Given the description of an element on the screen output the (x, y) to click on. 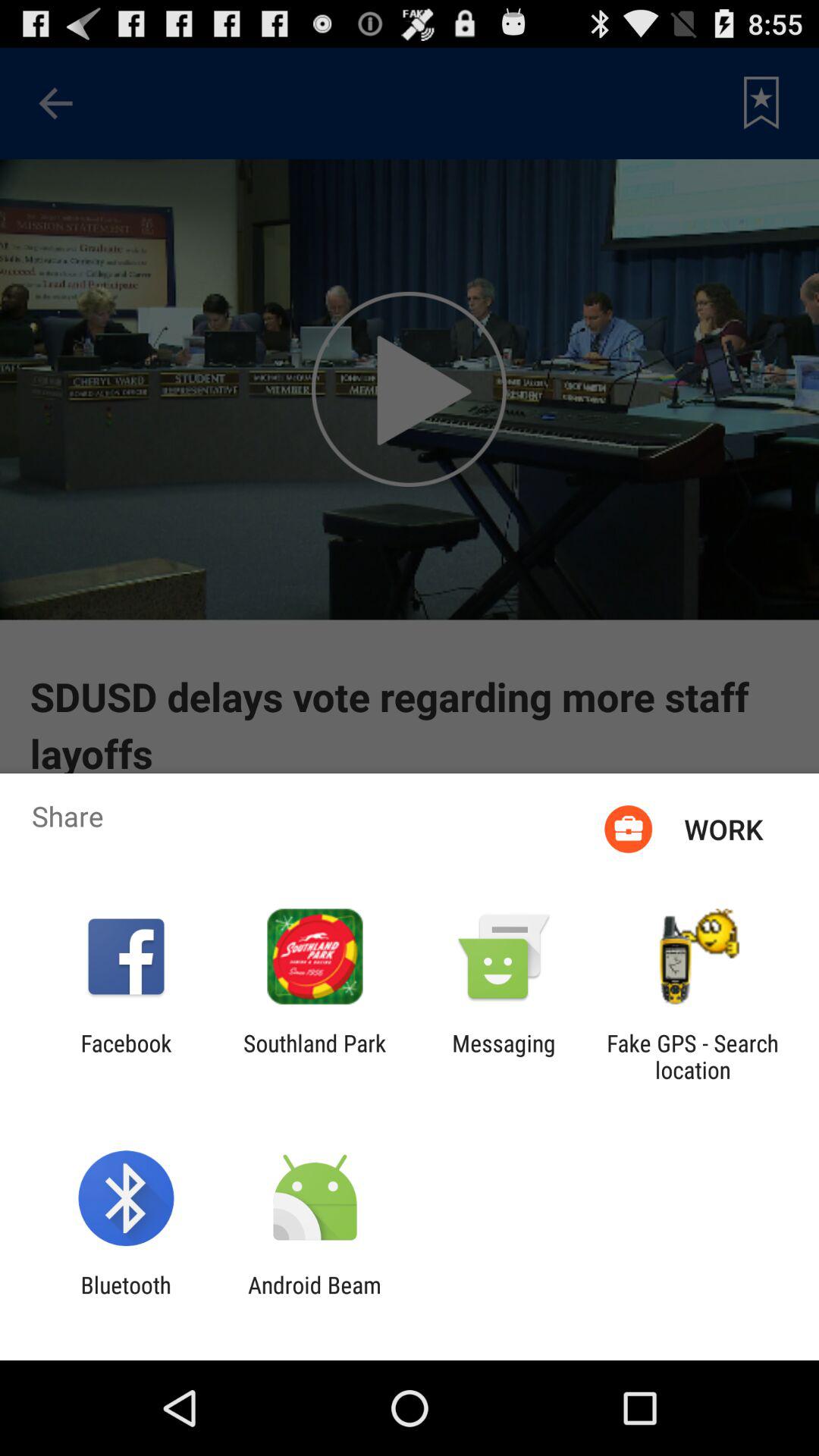
scroll until the bluetooth item (125, 1298)
